Given the description of an element on the screen output the (x, y) to click on. 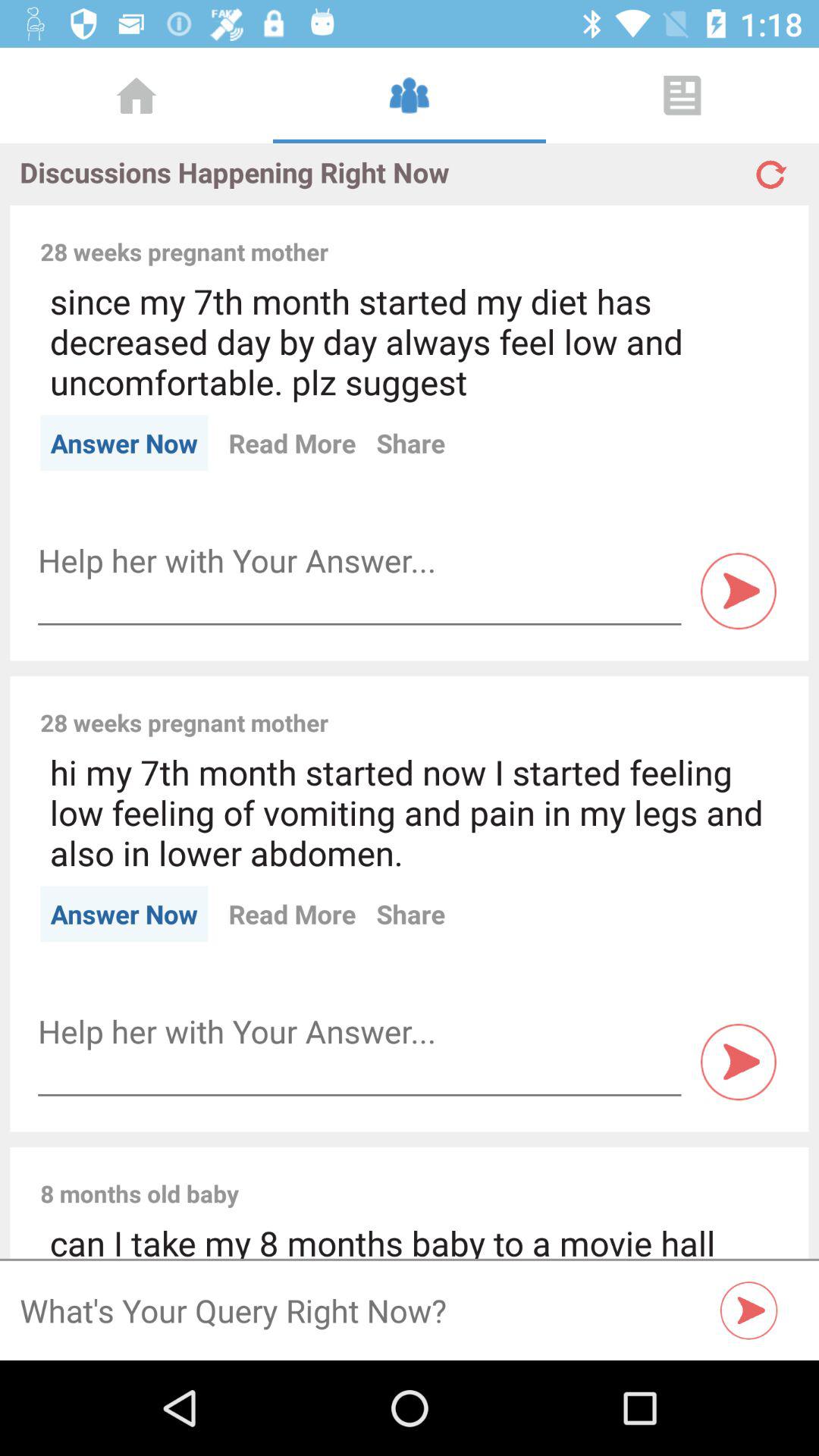
open the icon above the since my 7th item (563, 235)
